Given the description of an element on the screen output the (x, y) to click on. 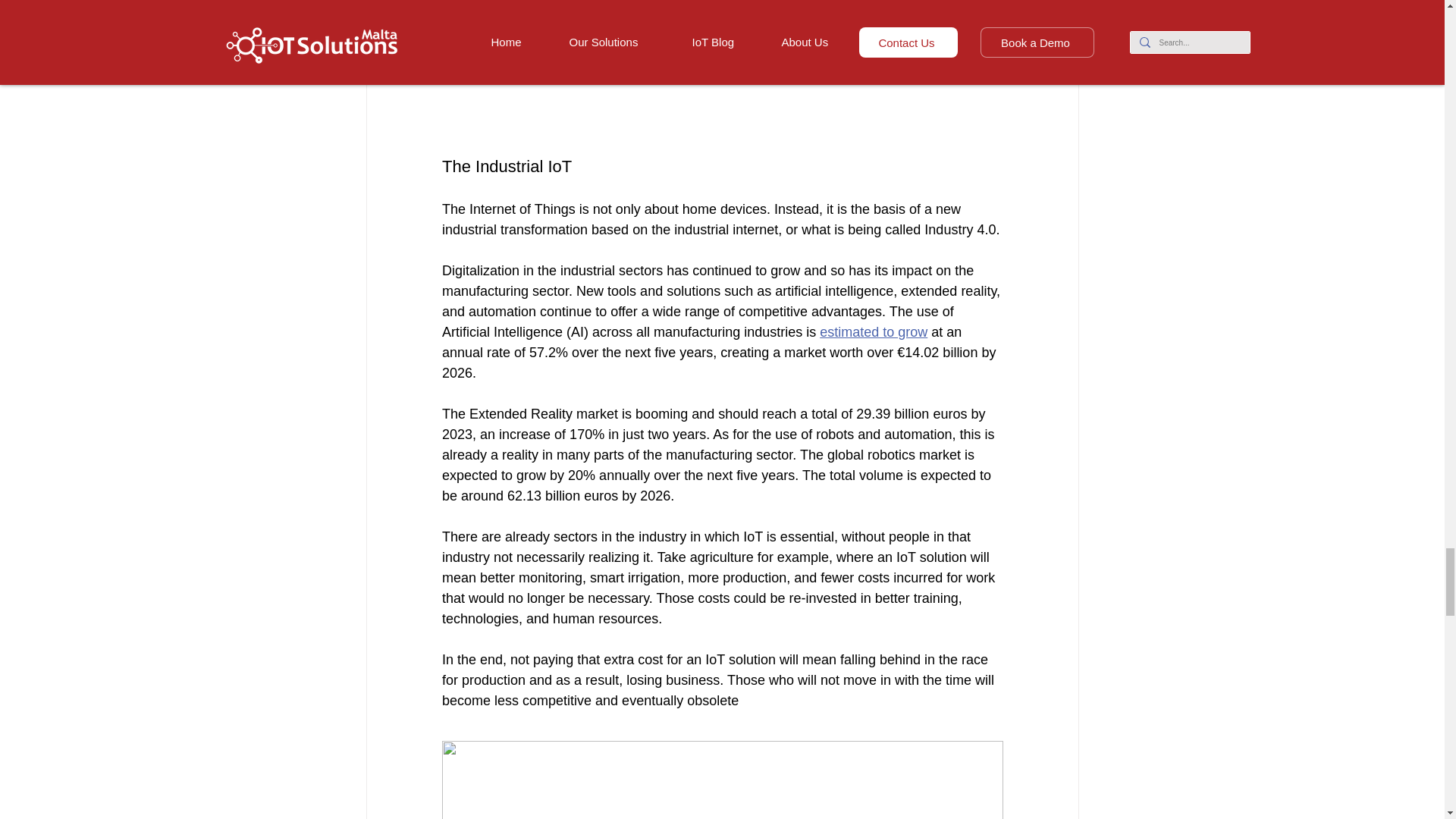
estimated to grow (873, 331)
